Given the description of an element on the screen output the (x, y) to click on. 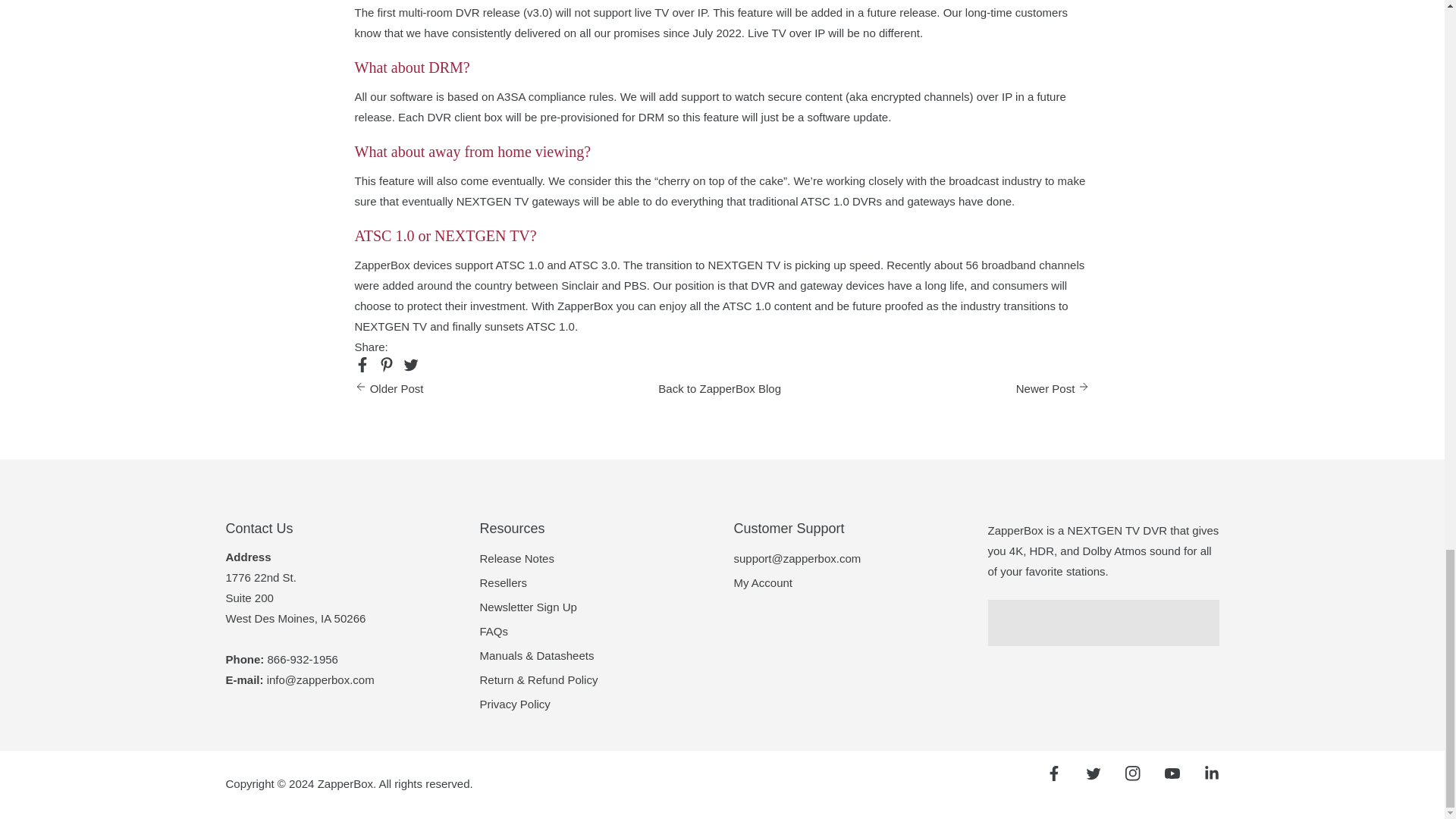
Instagram (1133, 773)
Twitter (1093, 773)
YouTube (1172, 773)
Facebook (1053, 773)
Linkedin (1211, 773)
